Given the description of an element on the screen output the (x, y) to click on. 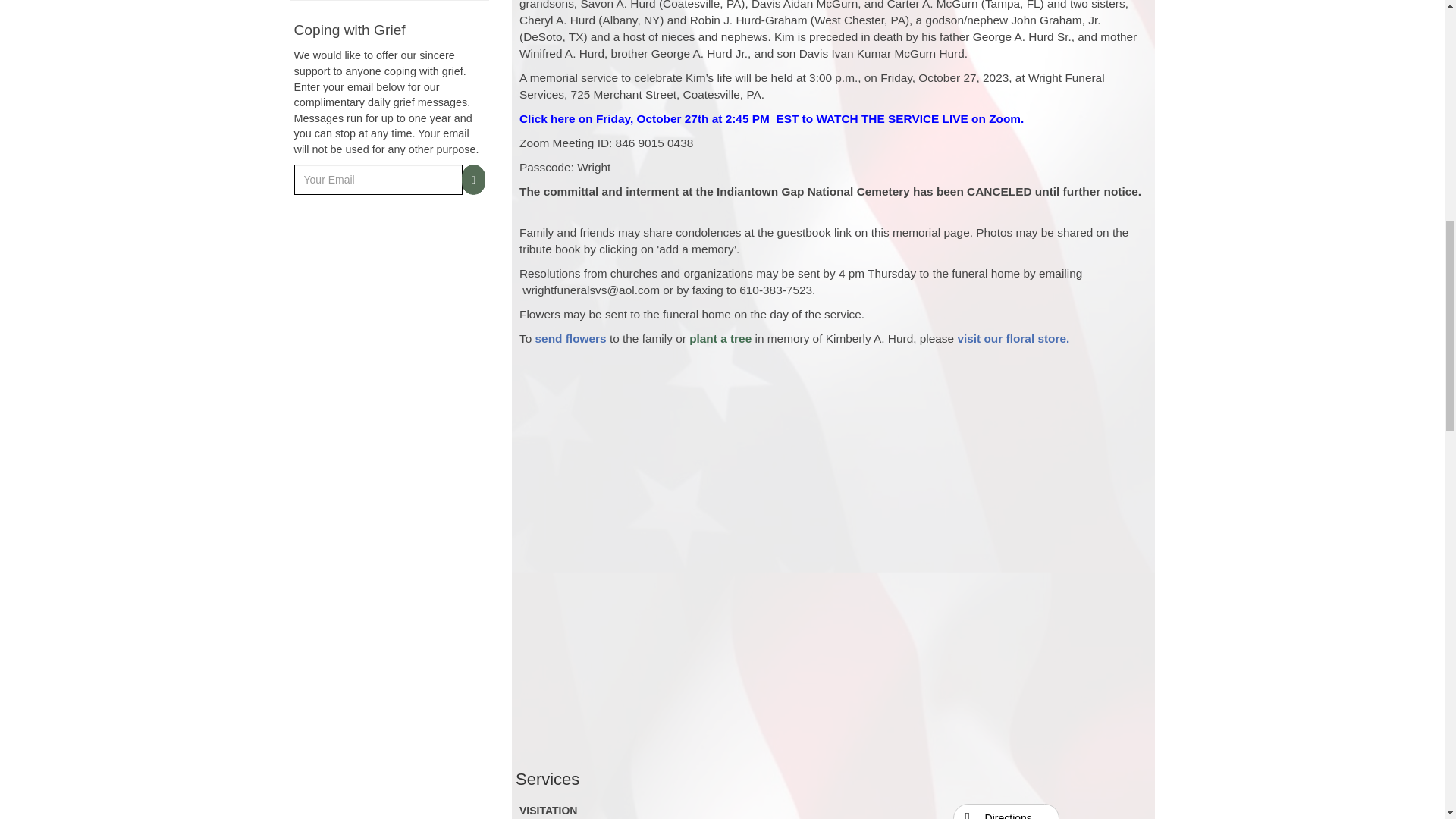
Directions (1006, 815)
visit our floral store. (1012, 338)
Directions (1006, 811)
plant a tree (719, 338)
send flowers (571, 338)
